Given the description of an element on the screen output the (x, y) to click on. 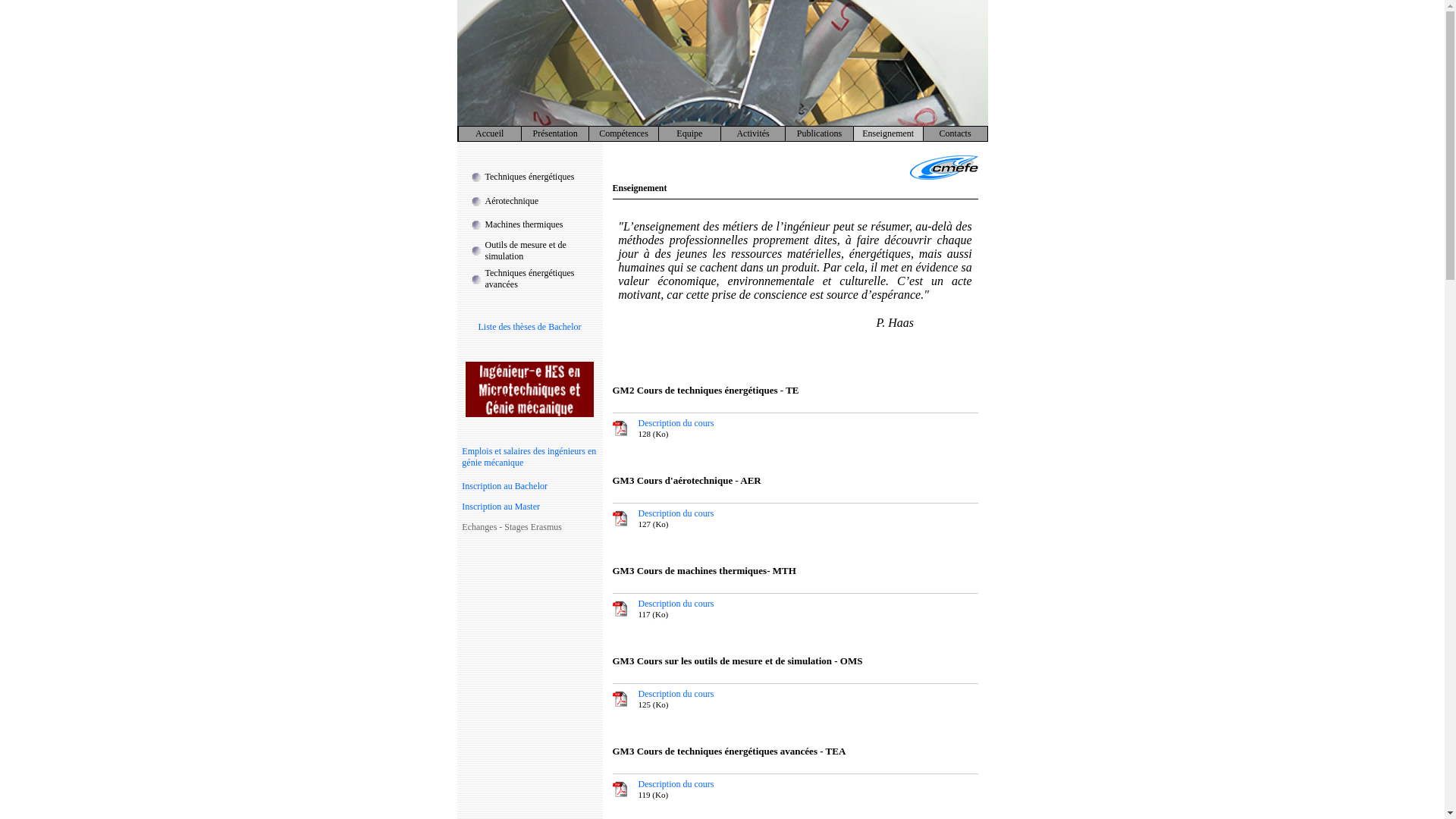
Description du cours Element type: text (676, 603)
Machines thermiques Element type: text (524, 224)
Contacts Element type: text (955, 133)
Description du cours Element type: text (676, 422)
Accueil Element type: text (489, 133)
Inscription au Master Element type: text (500, 506)
Description du cours Element type: text (676, 513)
Publications Element type: text (819, 133)
Echanges - Stages Erasmus Element type: text (511, 526)
Equipe Element type: text (689, 133)
Inscription au Bachelor Element type: text (504, 485)
Description du cours
119 (Ko) Element type: text (676, 789)
Outils de mesure et de simulation Element type: text (525, 250)
Description du cours
125 (Ko) Element type: text (676, 698)
Enseignement Element type: text (887, 133)
